Given the description of an element on the screen output the (x, y) to click on. 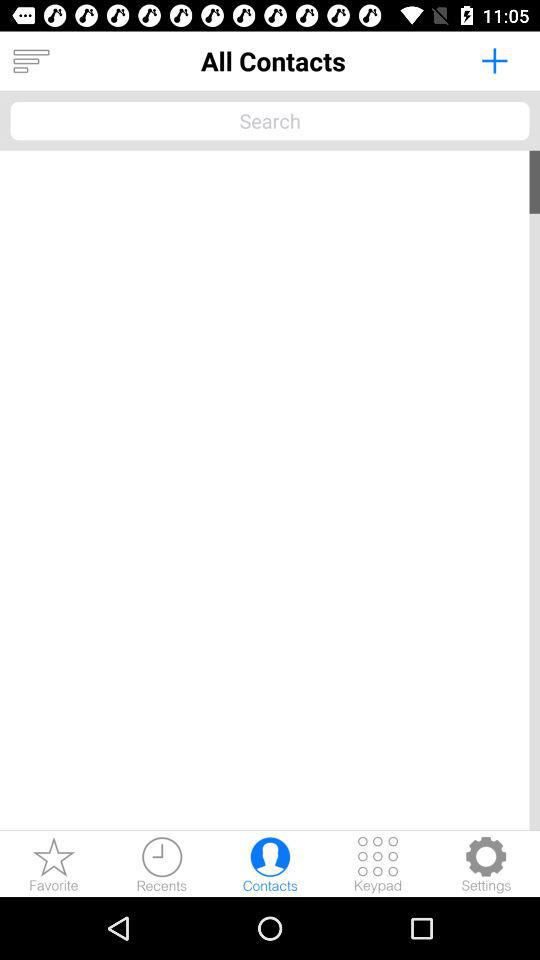
turn on the item at the center (270, 490)
